Given the description of an element on the screen output the (x, y) to click on. 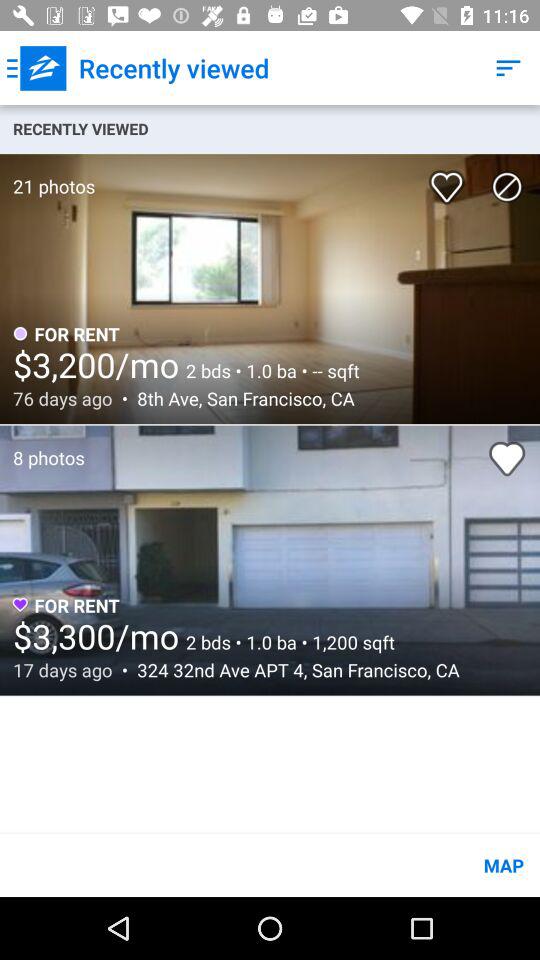
click the item to the right of recently viewed item (508, 67)
